Given the description of an element on the screen output the (x, y) to click on. 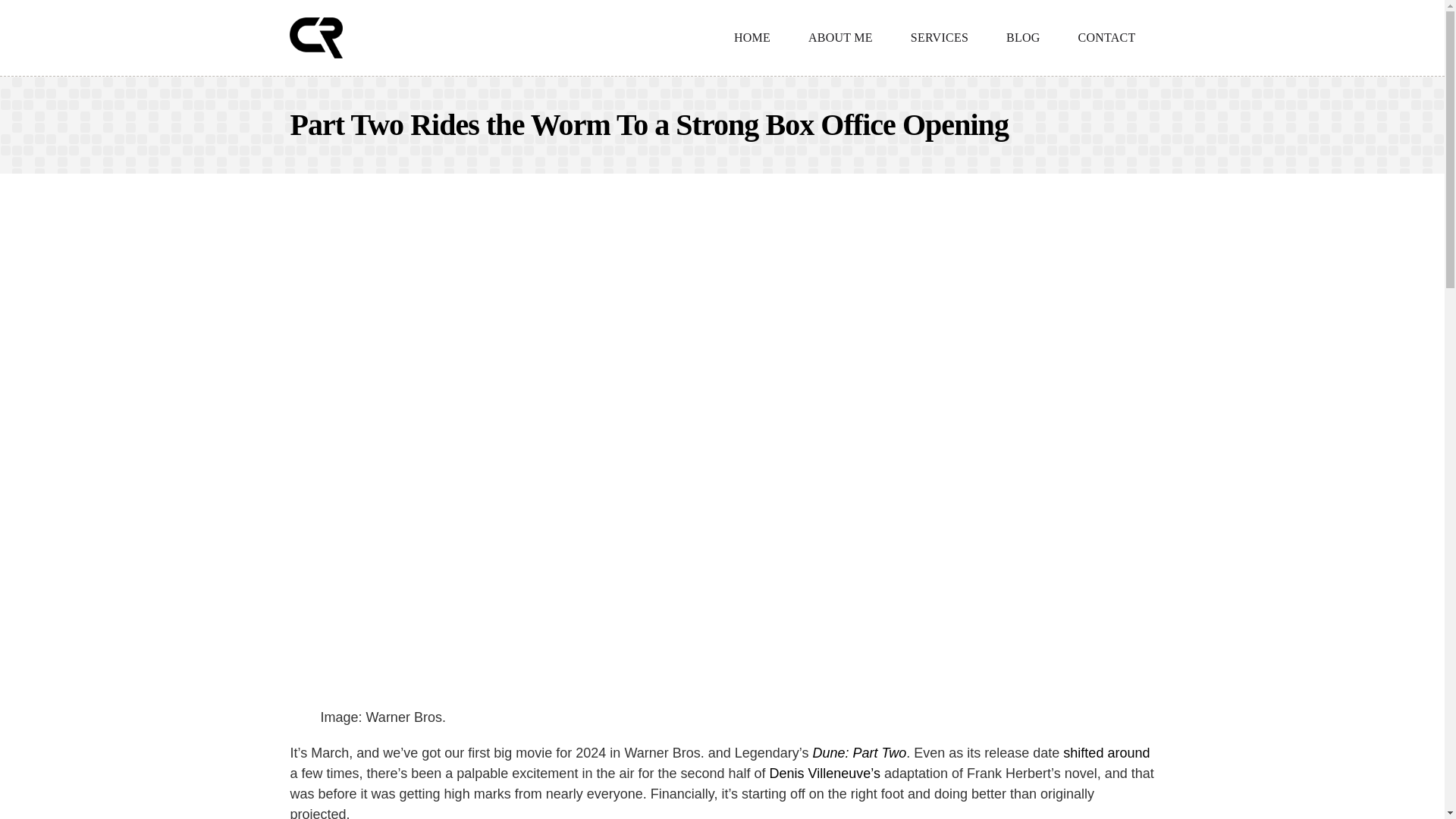
ABOUT ME (840, 38)
BLOG (1023, 38)
CONTACT (1106, 38)
SERVICES (939, 38)
Part Two Rides the Worm To a Strong Box Office Opening (648, 124)
shifted around (1106, 752)
Dune: Part Two (859, 752)
HOME (751, 38)
